Given the description of an element on the screen output the (x, y) to click on. 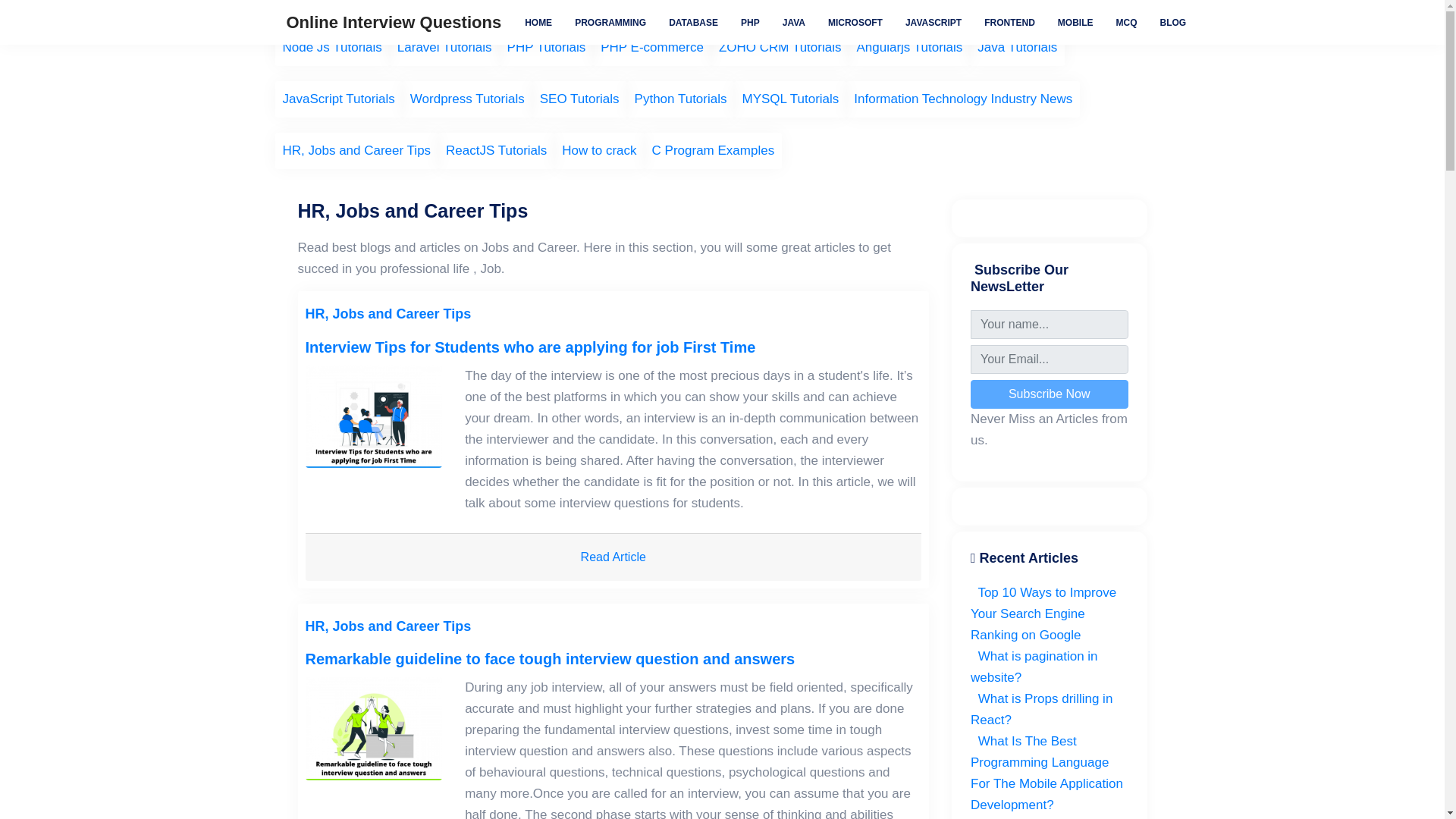
SEO Tutorials (579, 99)
JAVASCRIPT (932, 22)
MICROSOFT (854, 22)
SEO Tutorials (579, 99)
HR, Jobs and Career Tips (356, 150)
HOME (538, 22)
BLOG (1173, 22)
C Program Examples (714, 150)
PHP Tutorials (546, 47)
